Given the description of an element on the screen output the (x, y) to click on. 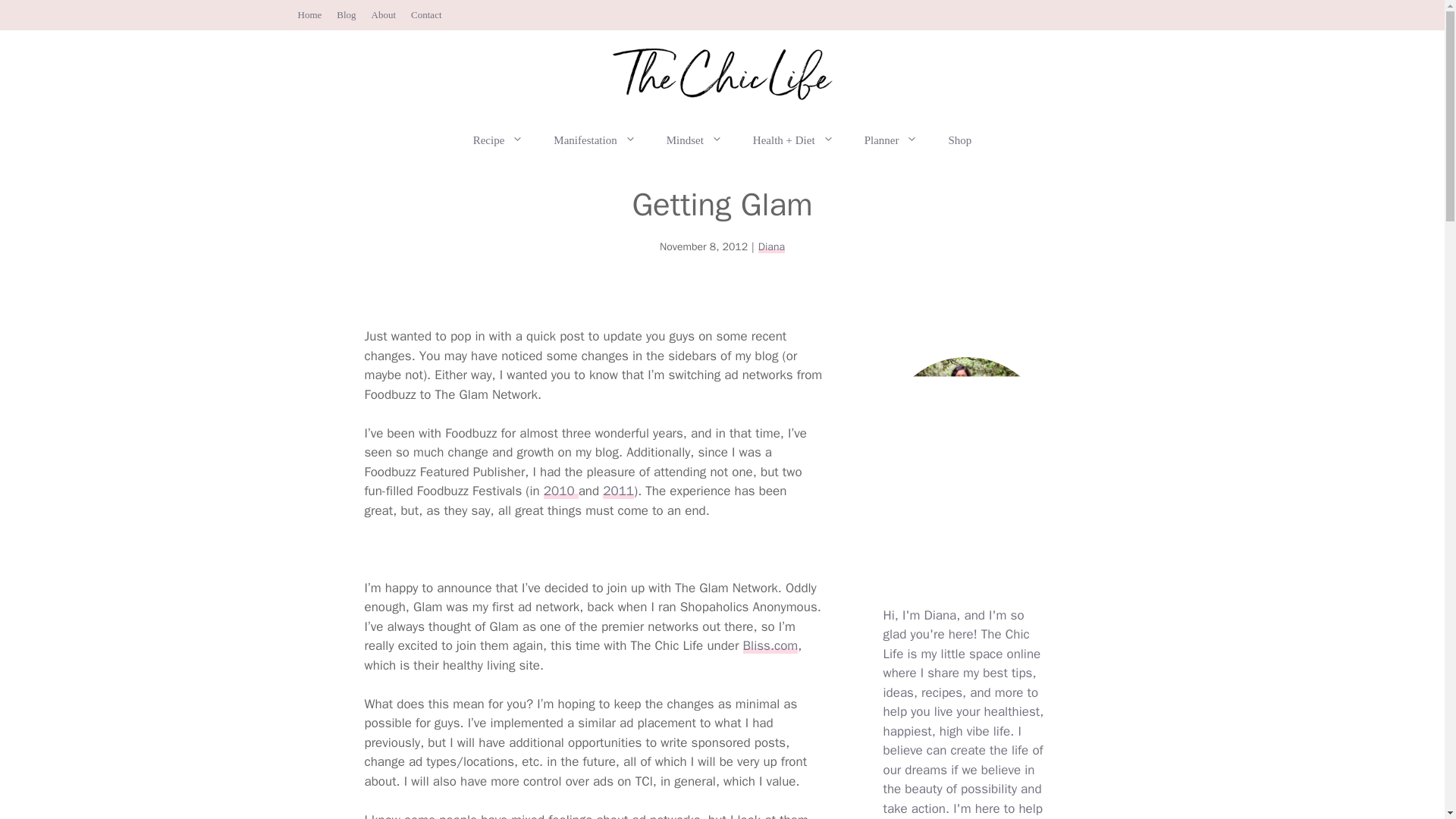
Blog (345, 14)
Home (309, 14)
Recipe (498, 139)
About (383, 14)
Contact (425, 14)
